Given the description of an element on the screen output the (x, y) to click on. 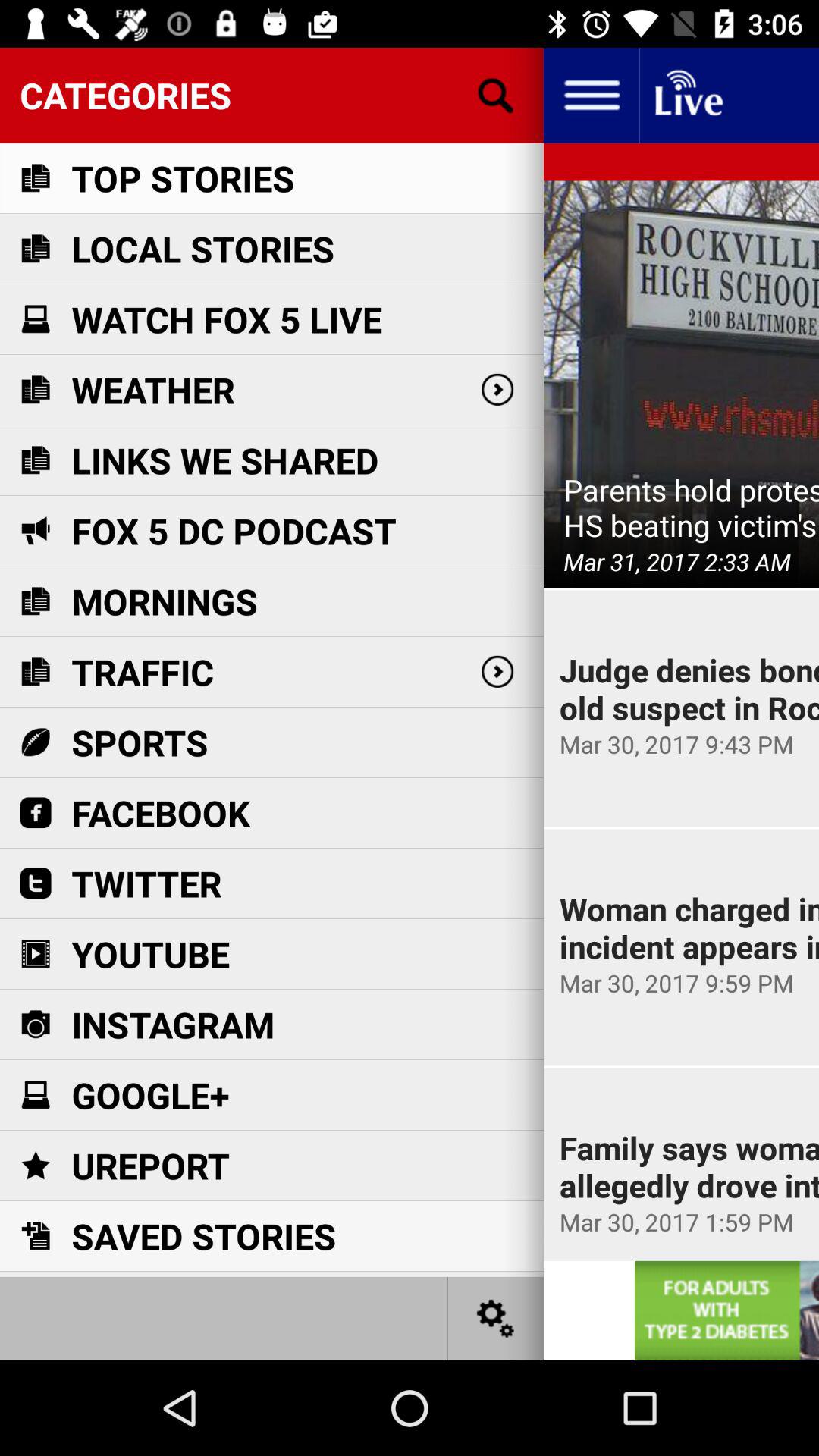
bring up menu (591, 95)
